Given the description of an element on the screen output the (x, y) to click on. 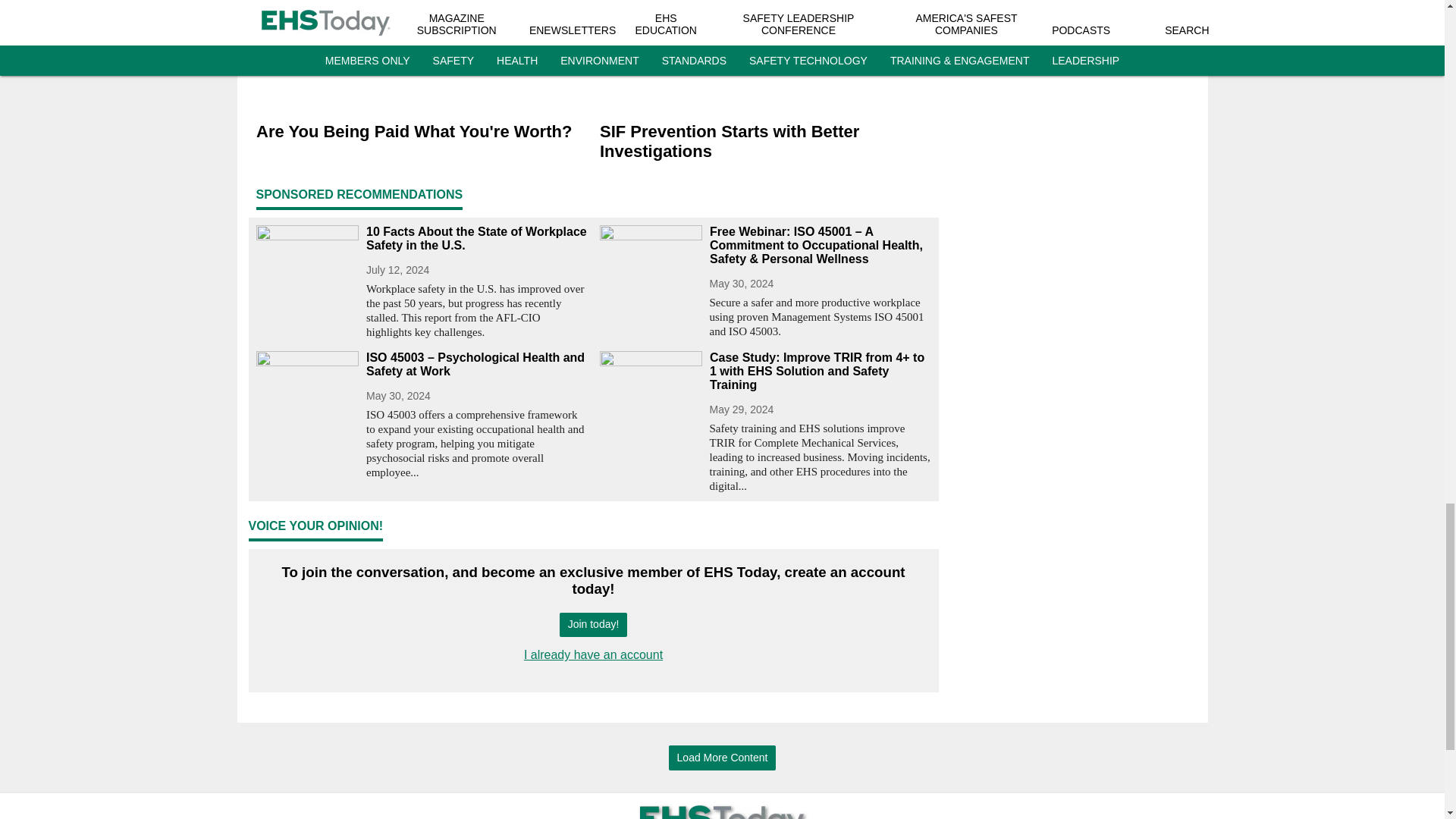
Join today! (593, 625)
I already have an account (593, 654)
10 Facts About the State of Workplace Safety in the U.S. (476, 238)
SIF Prevention Starts with Better Investigations (764, 142)
Are You Being Paid What You're Worth? (422, 132)
